Given the description of an element on the screen output the (x, y) to click on. 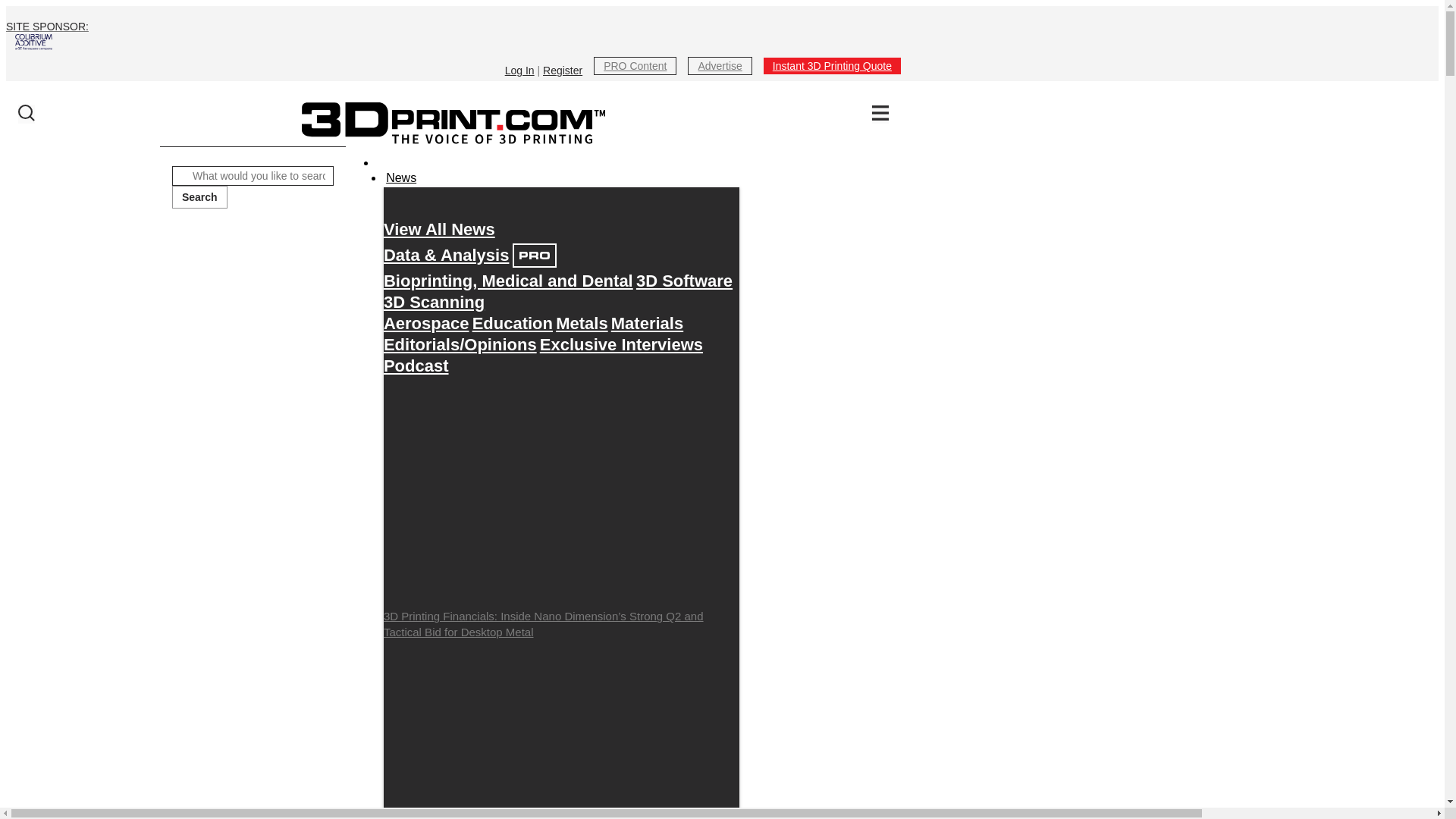
SITE SPONSOR: (453, 35)
Register (562, 70)
3D Scanning (434, 301)
PRO Content (635, 65)
Log In (519, 70)
Metals (581, 323)
Education (512, 323)
Search (199, 196)
Podcast (416, 365)
Advertise (719, 65)
